Given the description of an element on the screen output the (x, y) to click on. 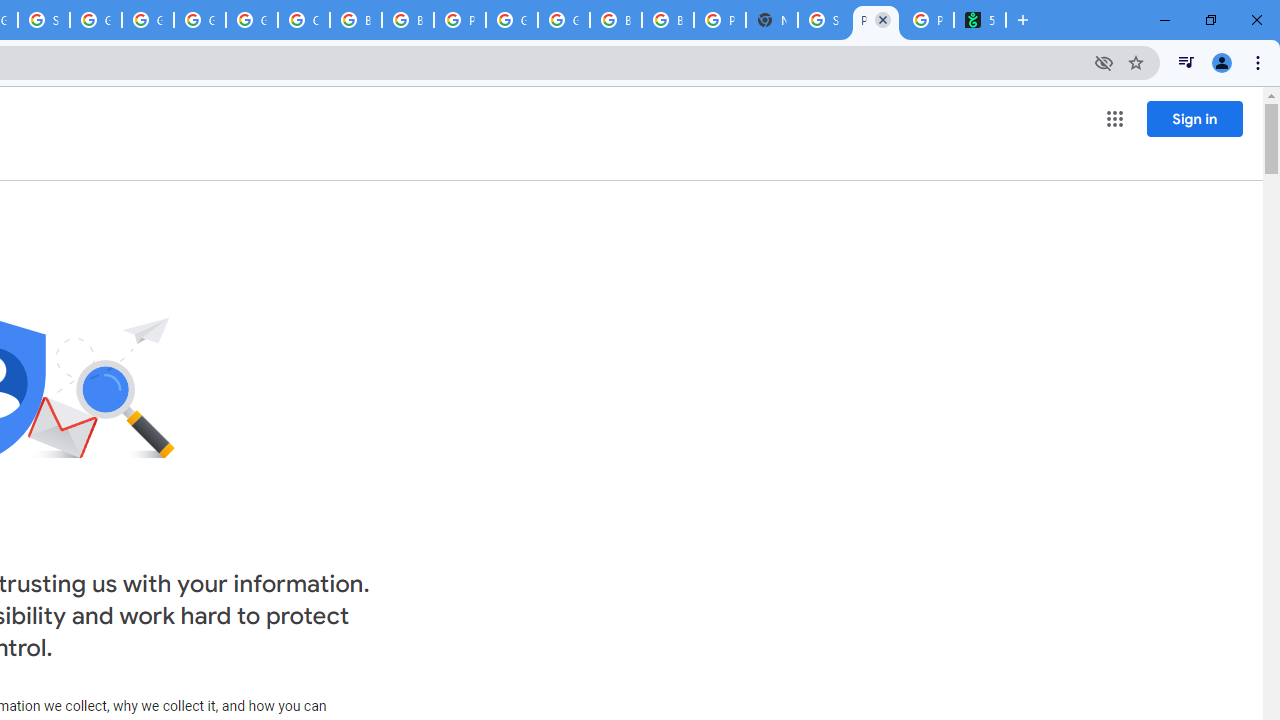
Sign in - Google Accounts (823, 20)
Browse Chrome as a guest - Computer - Google Chrome Help (616, 20)
Google Cloud Platform (200, 20)
New Tab (771, 20)
